Given the description of an element on the screen output the (x, y) to click on. 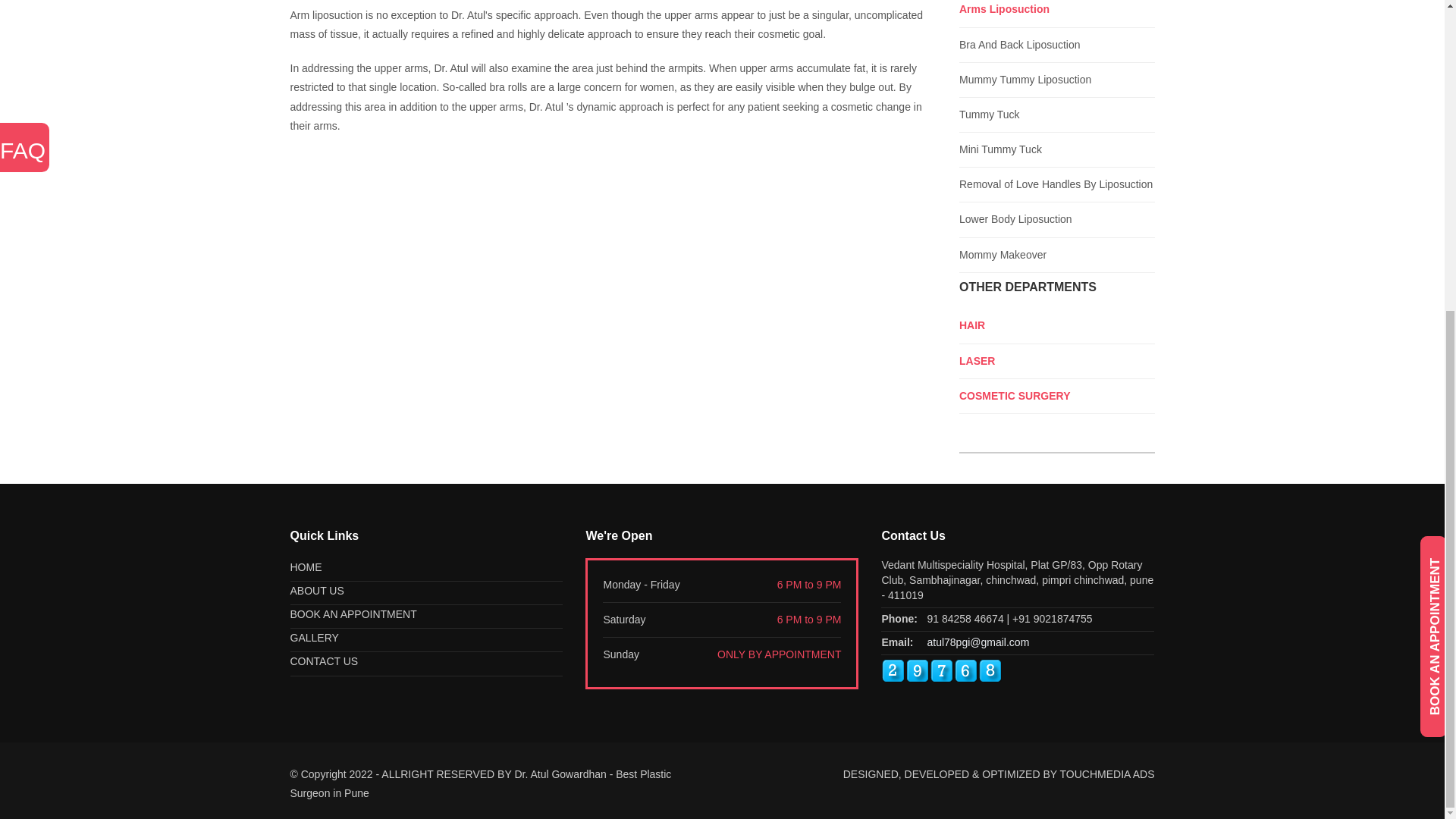
Click to see detail of visits and stats for this site (941, 671)
